Given the description of an element on the screen output the (x, y) to click on. 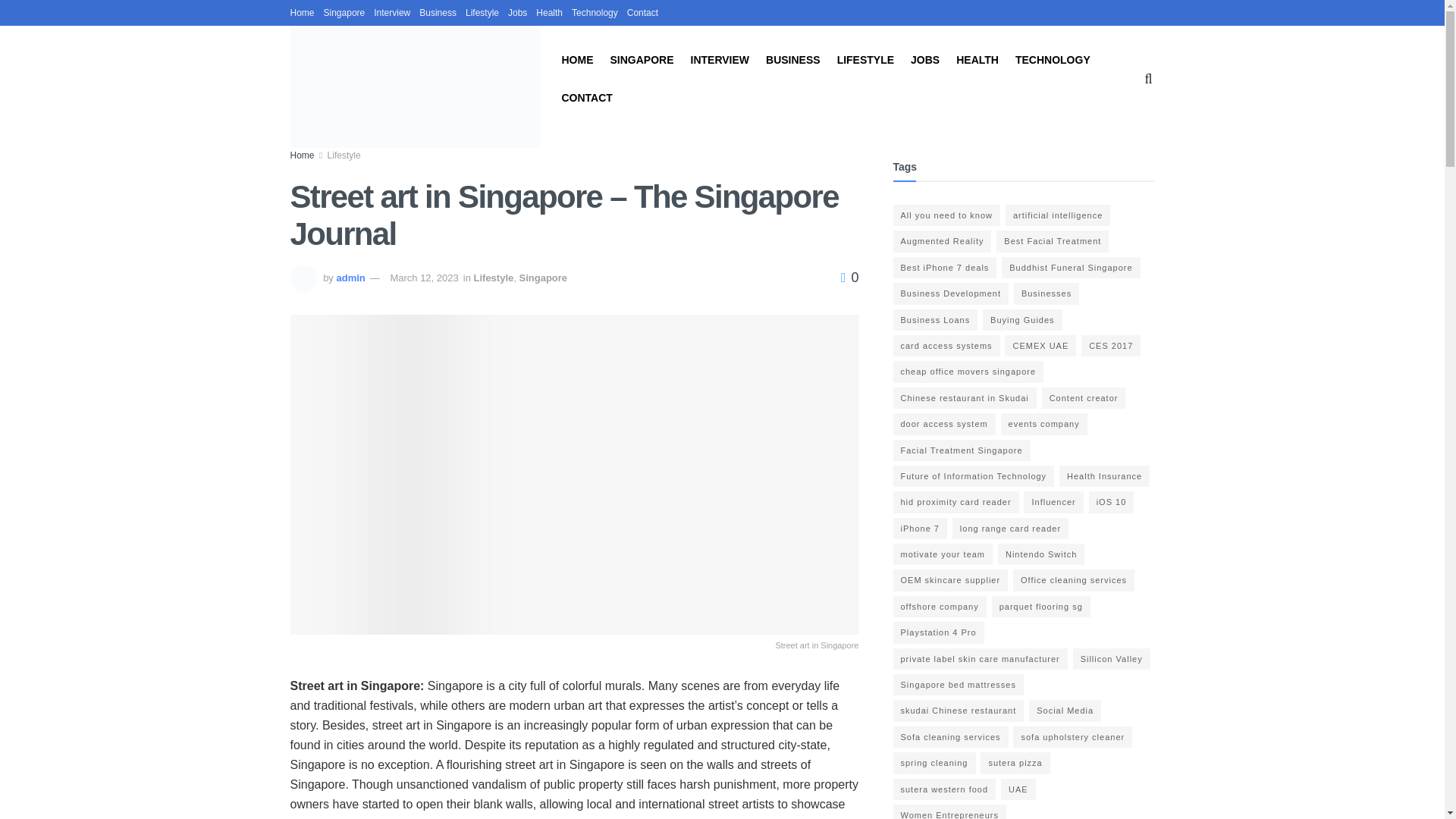
Technology (594, 12)
CONTACT (585, 97)
LIFESTYLE (865, 59)
HOME (576, 59)
HEALTH (977, 59)
Singapore (344, 12)
INTERVIEW (719, 59)
Interview (392, 12)
TECHNOLOGY (1052, 59)
BUSINESS (793, 59)
Lifestyle (482, 12)
Health (548, 12)
SINGAPORE (641, 59)
Home (301, 154)
March 12, 2023 (424, 277)
